Given the description of an element on the screen output the (x, y) to click on. 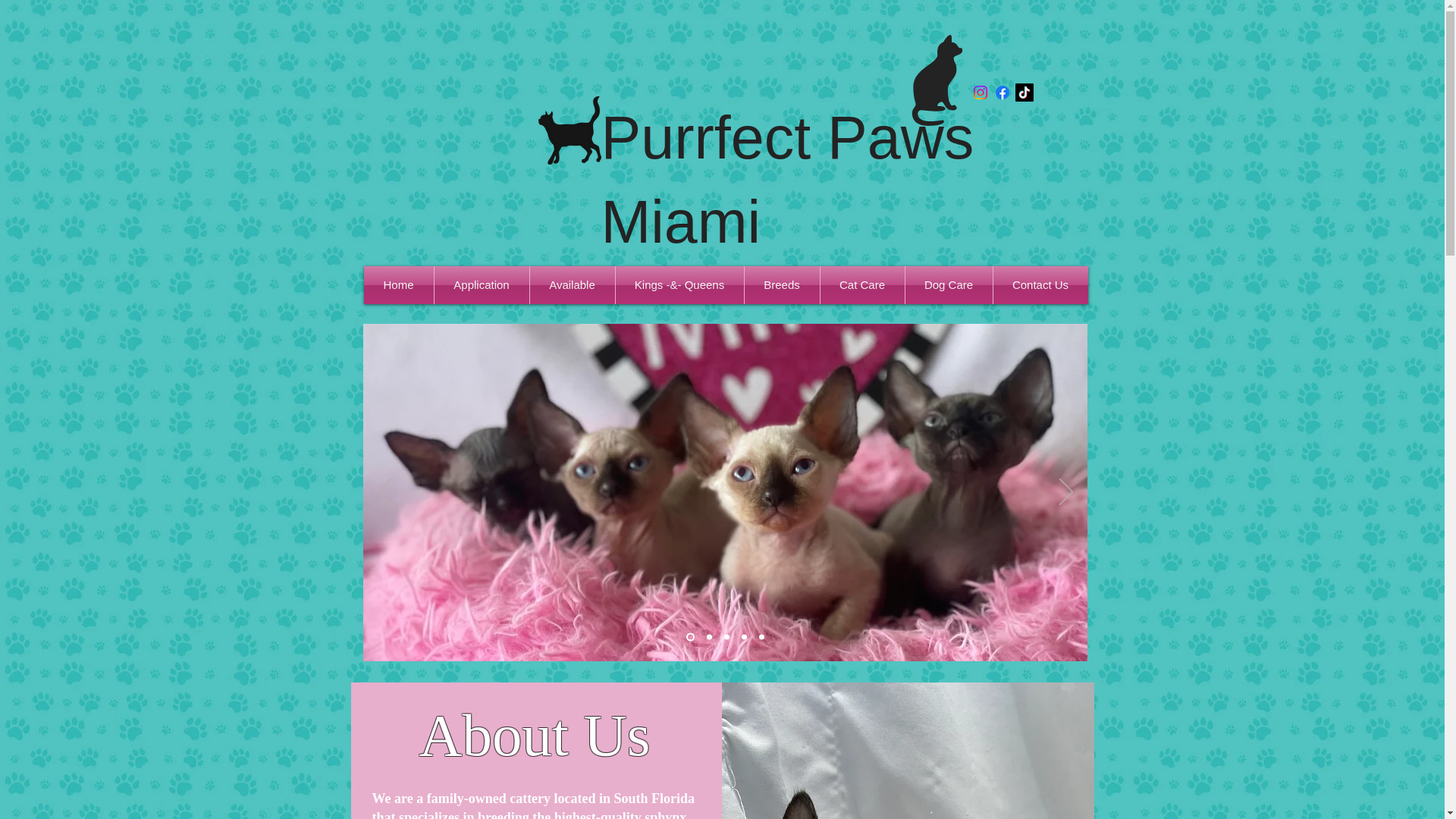
Application (480, 284)
Log In (1046, 92)
Breeds (781, 284)
Contact Us (1039, 284)
Dog Care (948, 284)
Home (398, 284)
